Given the description of an element on the screen output the (x, y) to click on. 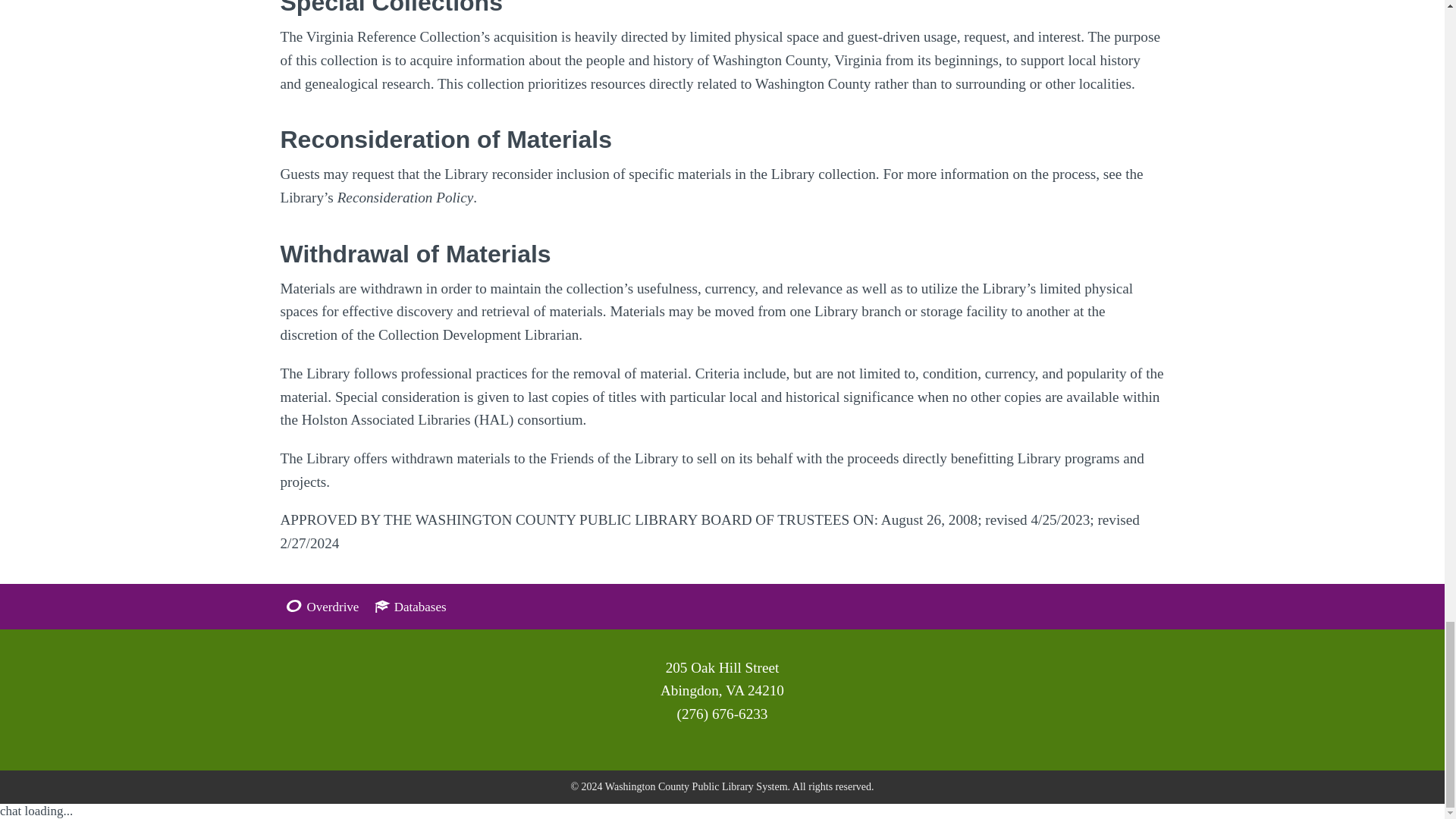
WCPL Twitter (710, 748)
WCPL Facebook (689, 748)
